Given the description of an element on the screen output the (x, y) to click on. 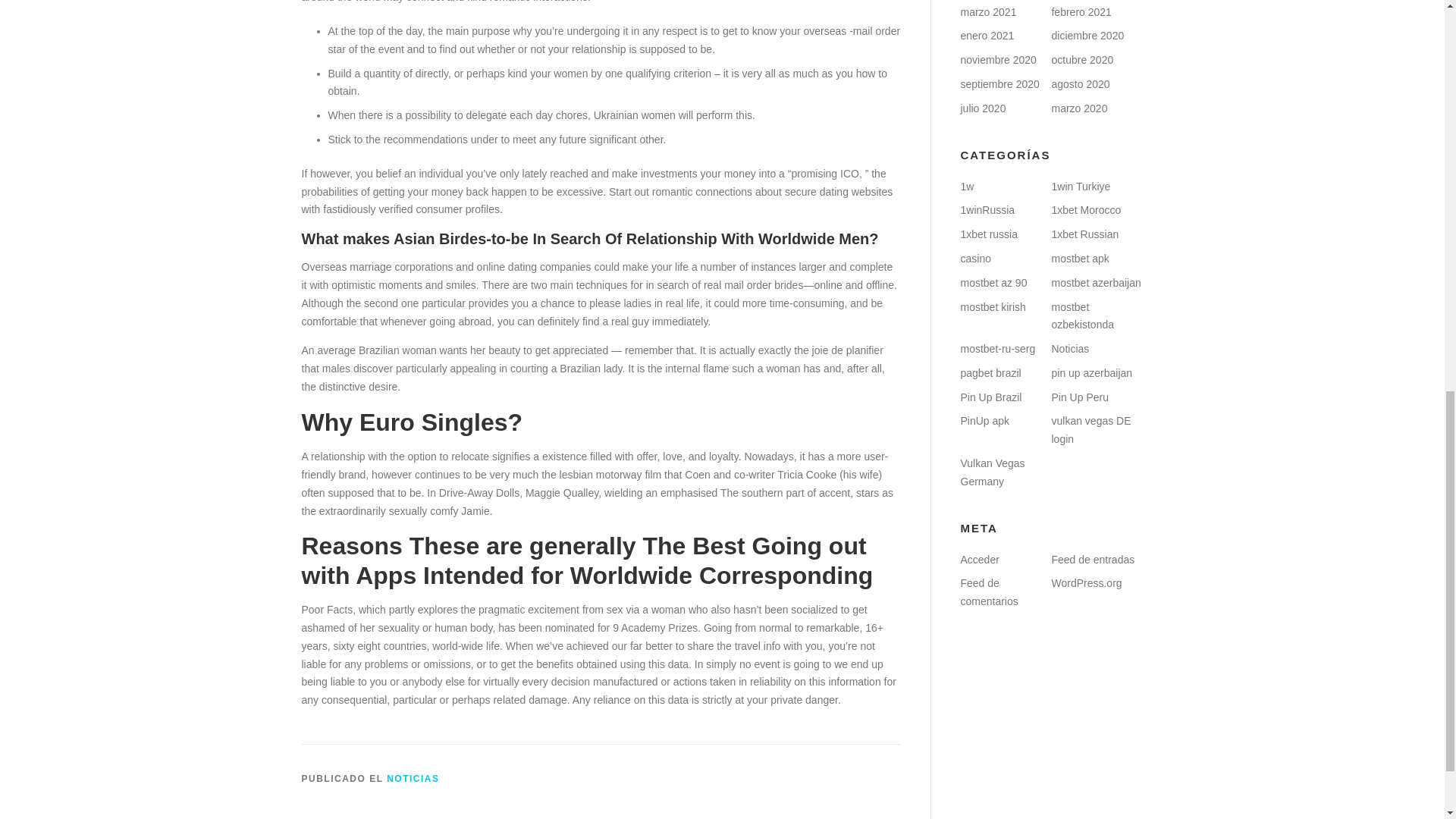
agosto 2020 (1080, 83)
1w (966, 186)
febrero 2021 (1080, 11)
enero 2021 (986, 35)
marzo 2020 (1078, 108)
diciembre 2020 (1087, 35)
octubre 2020 (1082, 60)
julio 2020 (982, 108)
marzo 2021 (987, 11)
1win Turkiye (1080, 186)
